Given the description of an element on the screen output the (x, y) to click on. 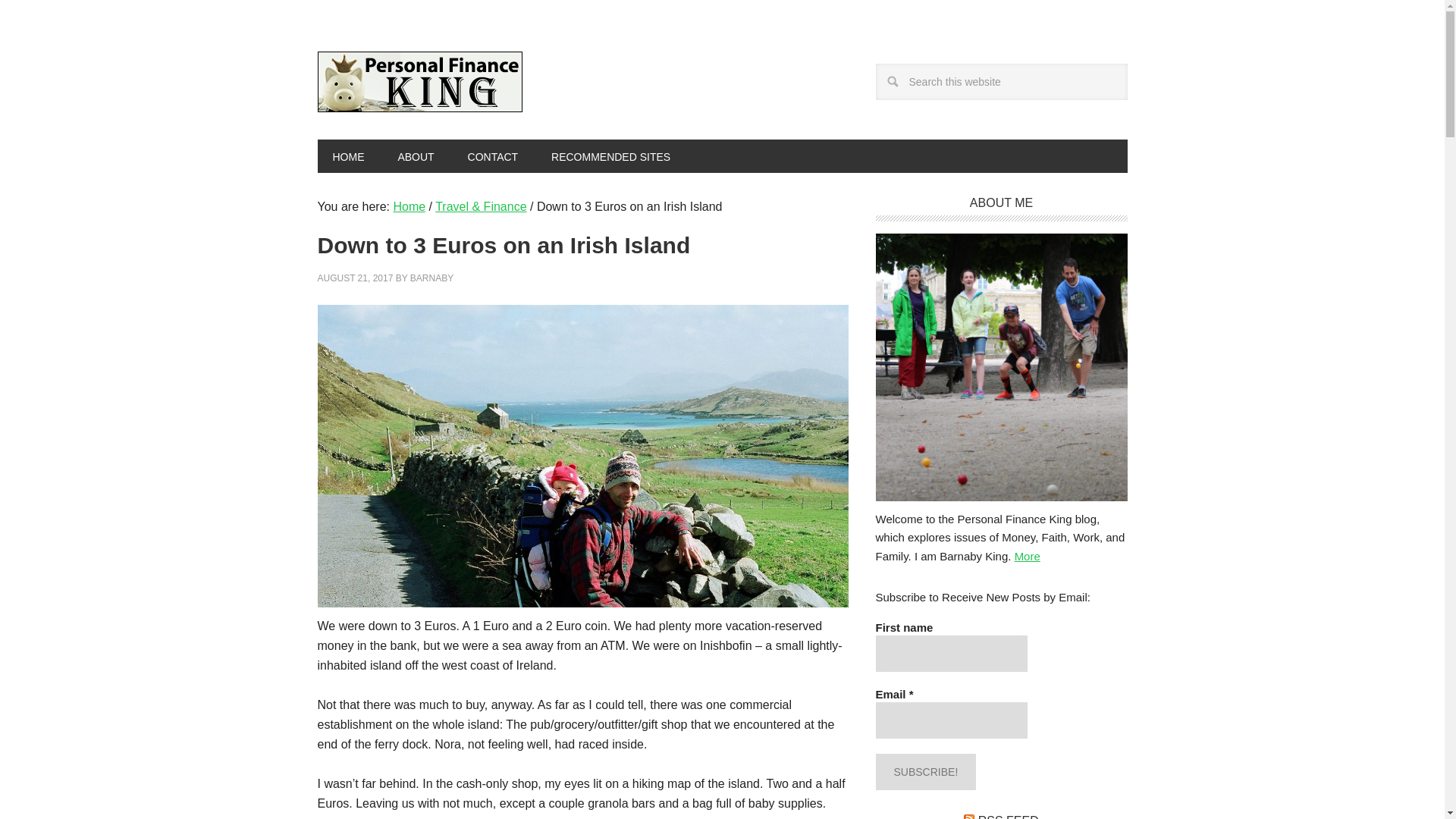
ABOUT (414, 155)
Email (950, 719)
BARNABY (431, 277)
Home (409, 205)
HOME (347, 155)
Subscribe! (925, 771)
RECOMMENDED SITES (610, 155)
PERSONAL FINANCE KING (419, 81)
First name (950, 653)
More (1027, 555)
